Given the description of an element on the screen output the (x, y) to click on. 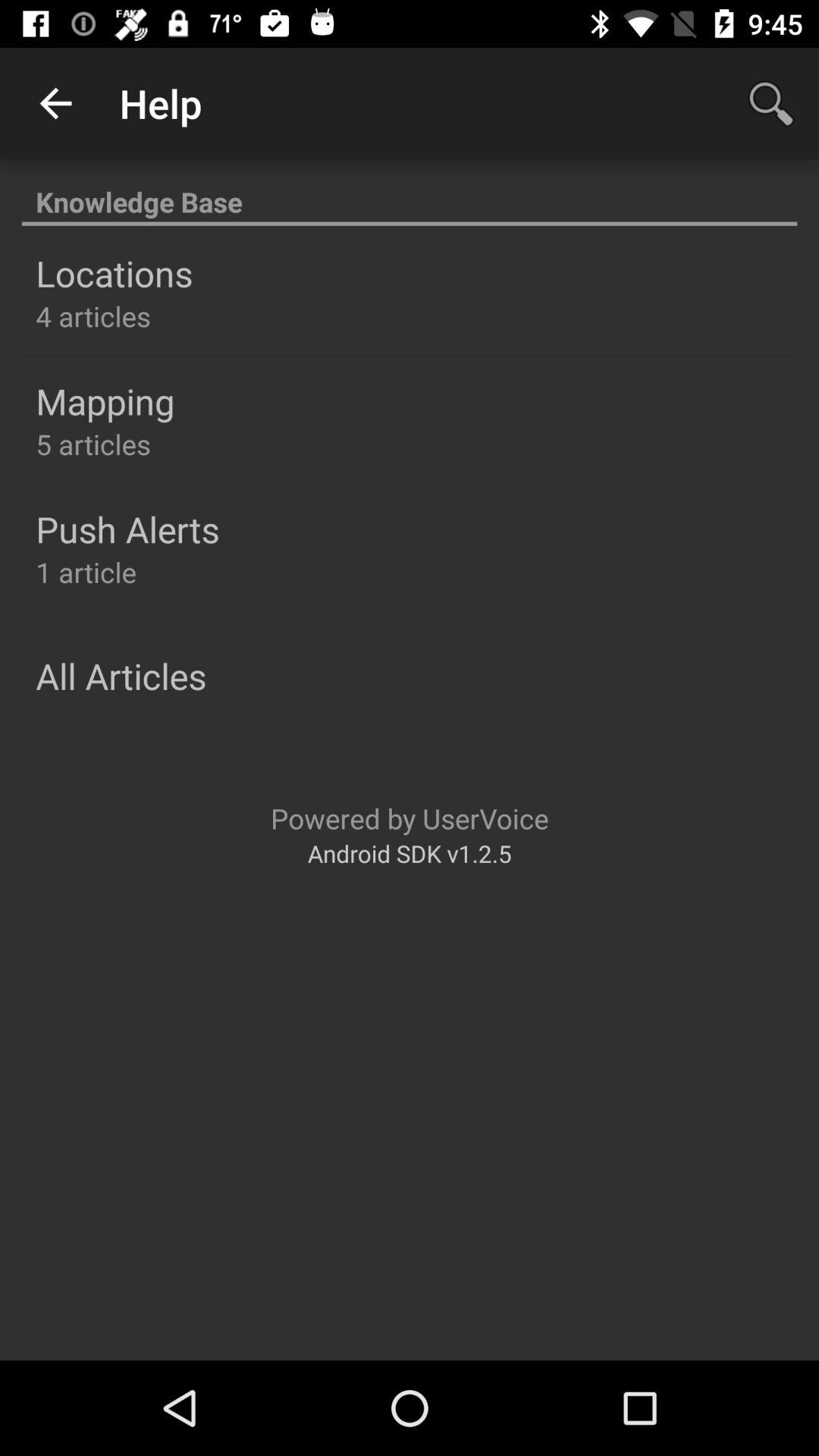
press the icon above knowledge base item (55, 103)
